Given the description of an element on the screen output the (x, y) to click on. 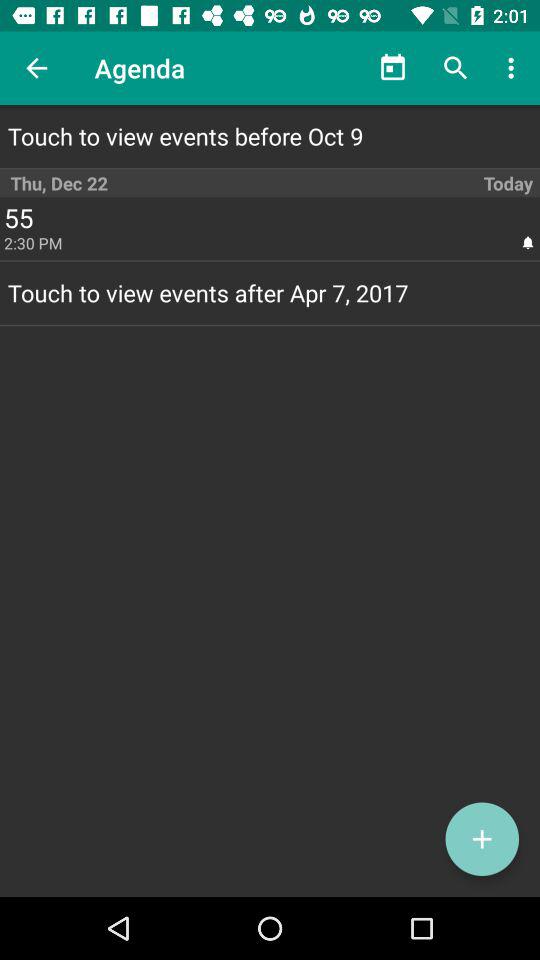
add new event (482, 839)
